Given the description of an element on the screen output the (x, y) to click on. 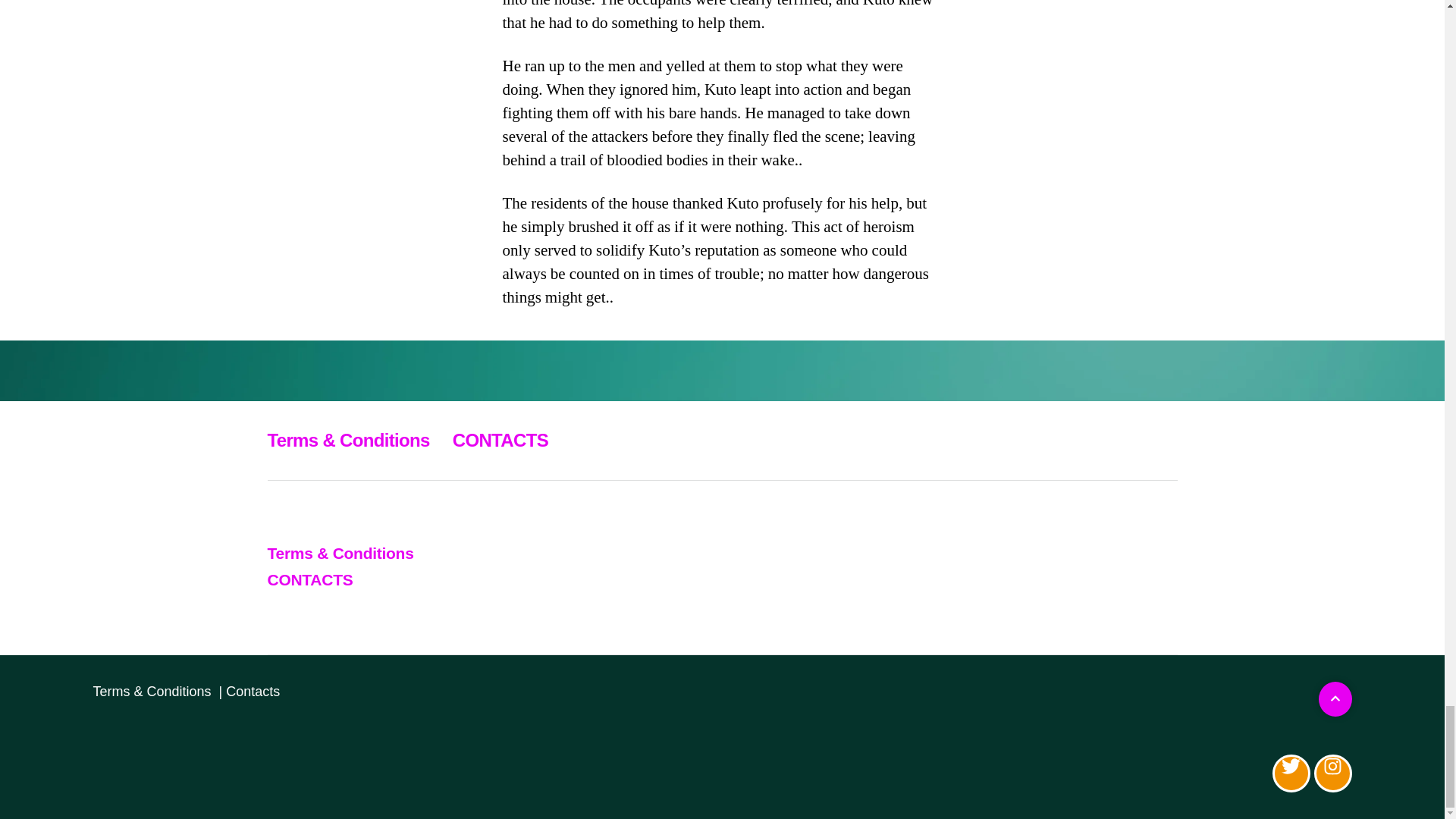
CONTACTS (309, 579)
CONTACTS (500, 439)
Contacts (252, 691)
